Given the description of an element on the screen output the (x, y) to click on. 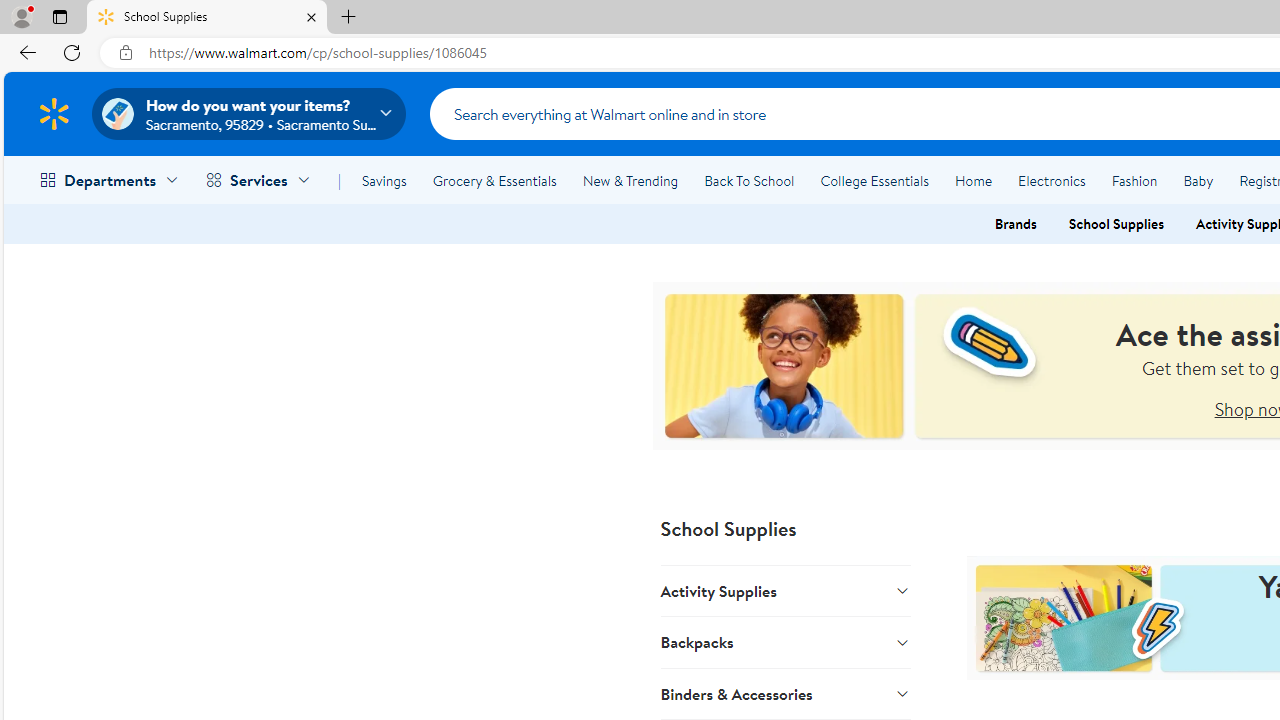
Backpacks (785, 642)
Savings (384, 180)
Activity Supplies (785, 591)
Grocery & Essentials (493, 180)
Brands (1015, 224)
Binders & Accessories (785, 693)
Fashion (1134, 180)
